Given the description of an element on the screen output the (x, y) to click on. 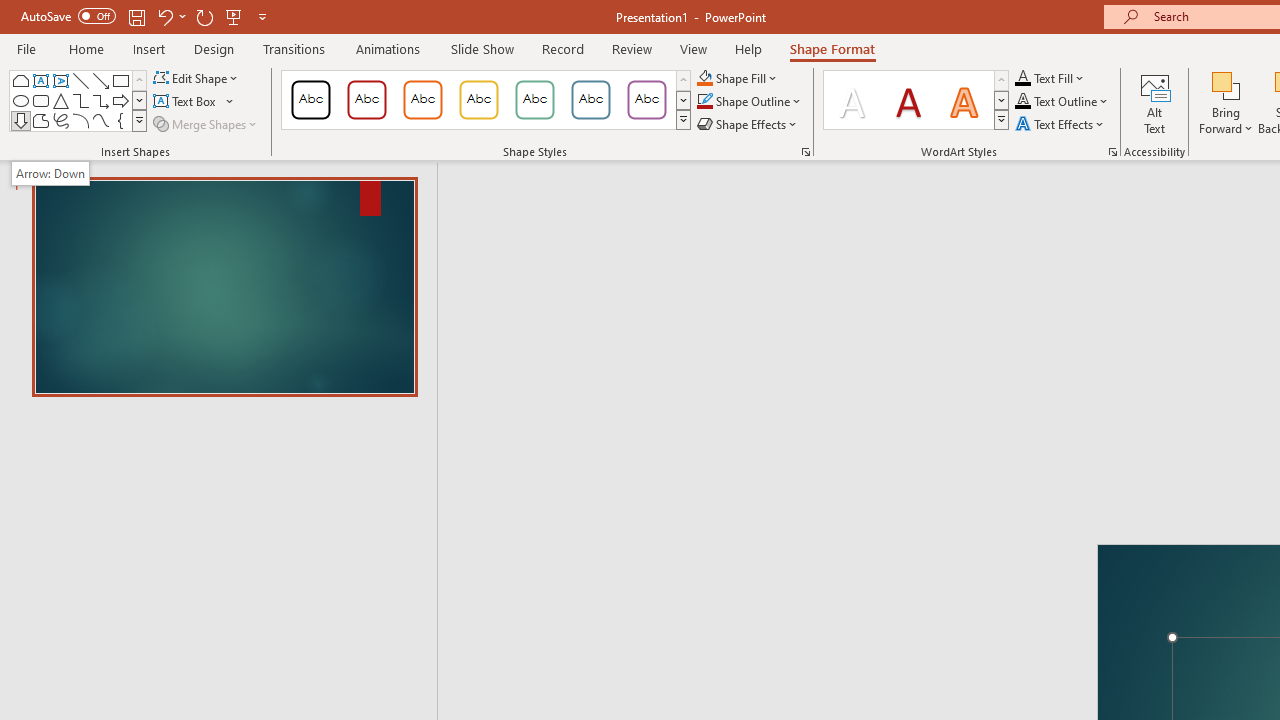
Format Object... (805, 151)
Colored Outline - Dark Red, Accent 1 (367, 100)
Colored Outline - Gold, Accent 3 (478, 100)
Connector: Elbow Arrow (100, 100)
Oval (20, 100)
Line (80, 80)
Shape Effects (748, 124)
